Given the description of an element on the screen output the (x, y) to click on. 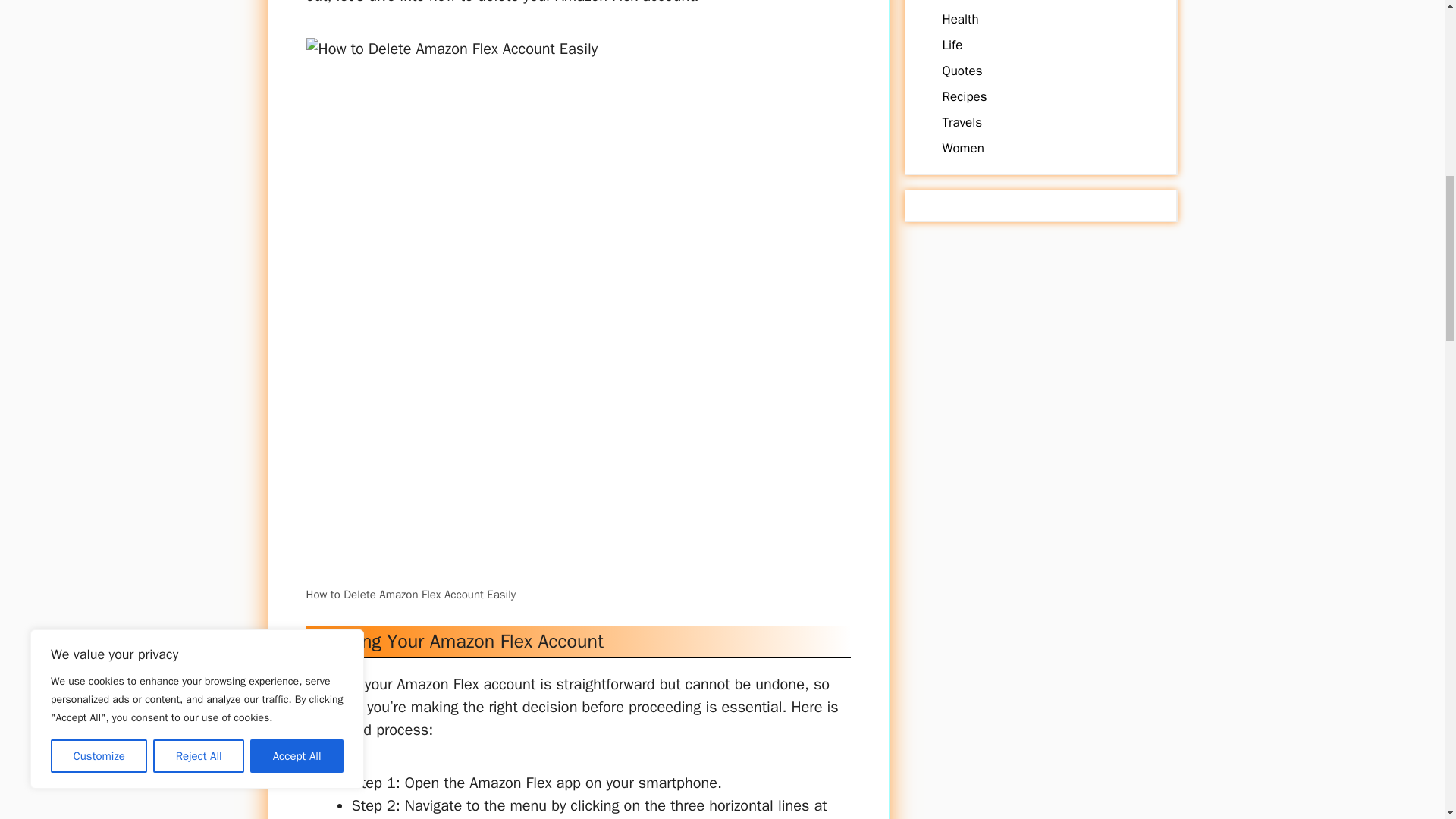
Health (960, 19)
Dreams (963, 0)
Scroll back to top (1406, 720)
